Given the description of an element on the screen output the (x, y) to click on. 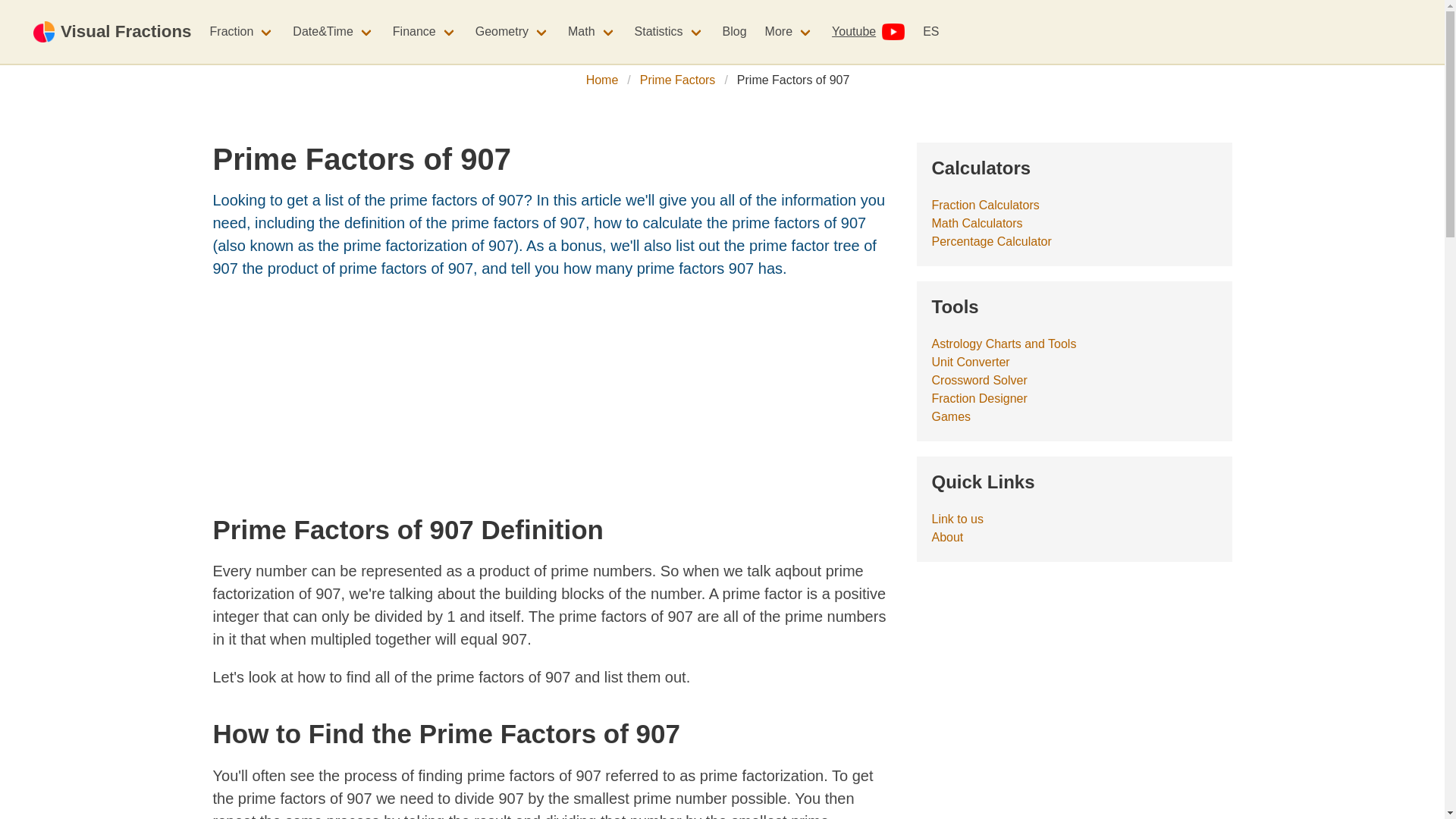
Fraction (241, 31)
Geometry (512, 31)
Finance (424, 31)
Math (592, 31)
Visual Fractions (112, 31)
